Given the description of an element on the screen output the (x, y) to click on. 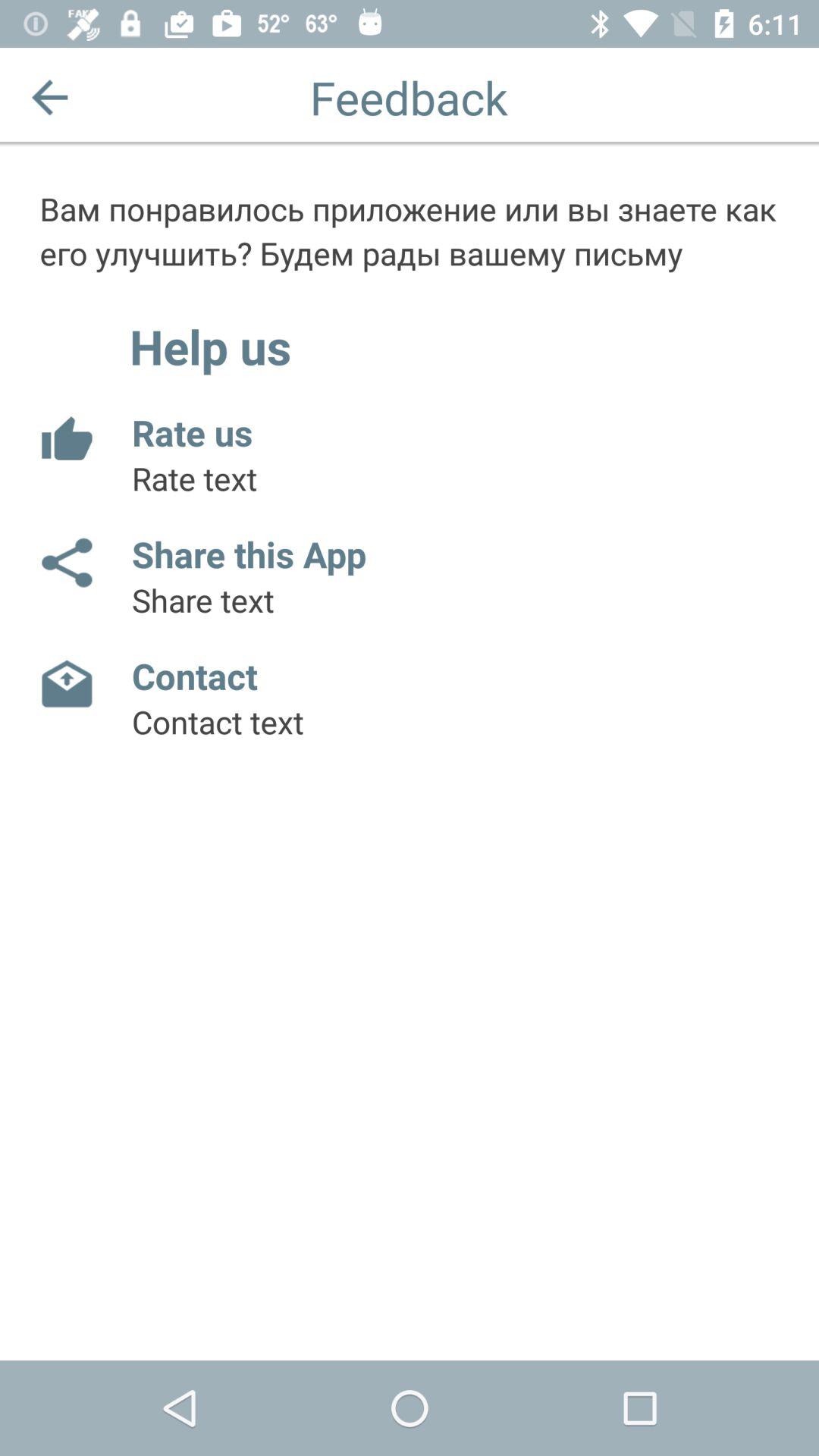
click the item next to the feedback (49, 97)
